Given the description of an element on the screen output the (x, y) to click on. 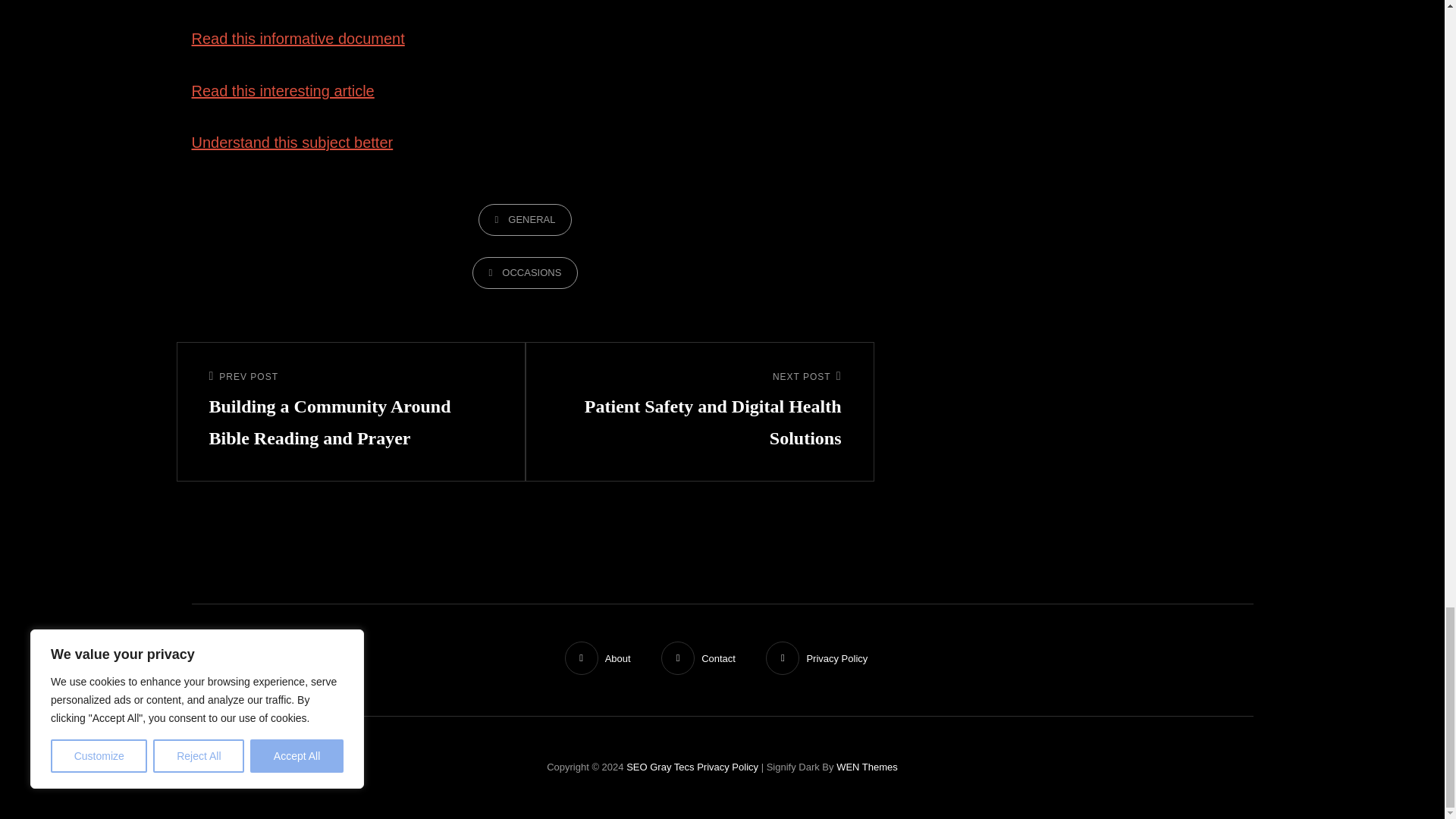
Understand this subject better (291, 142)
Read this informative document (297, 38)
Read this interesting article (282, 90)
GENERAL (525, 219)
OCCASIONS (524, 273)
